Given the description of an element on the screen output the (x, y) to click on. 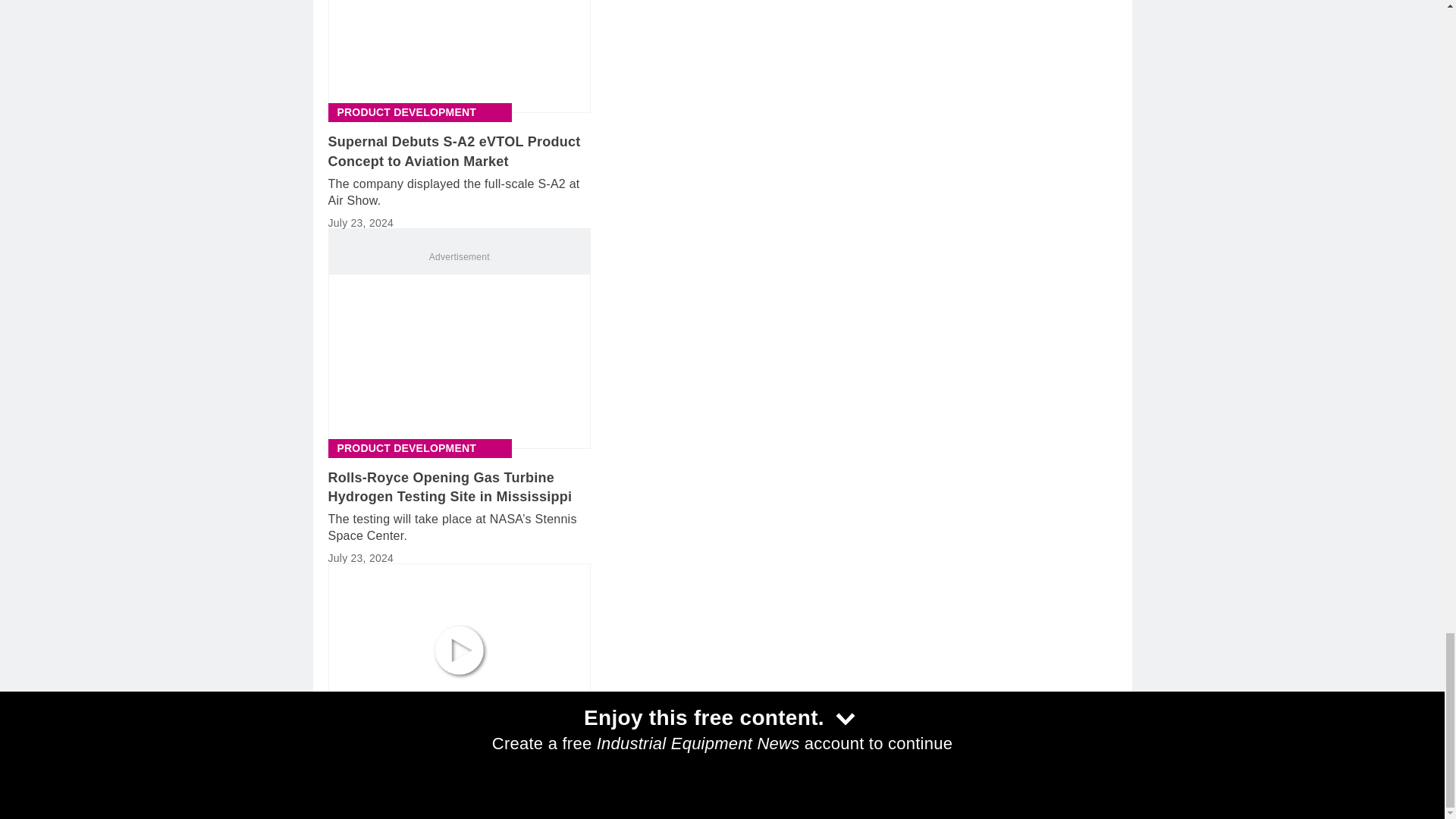
Product Development (406, 112)
